Given the description of an element on the screen output the (x, y) to click on. 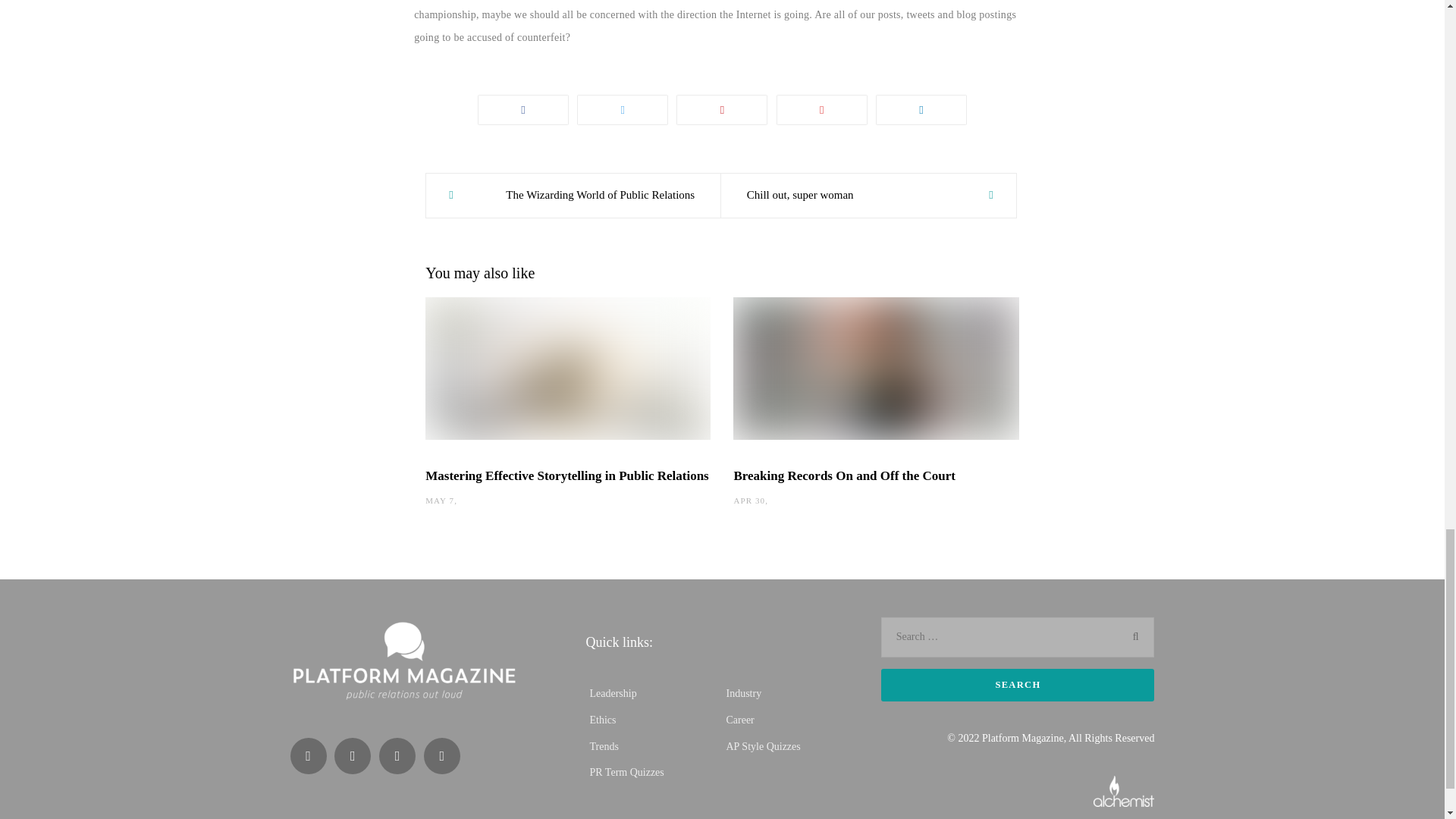
The Wizarding World of Public Relations (572, 195)
Search (1017, 685)
Chill out, super woman (868, 195)
Mastering Effective Storytelling in Public Relations (566, 475)
Tuesday, April 30, 2024, 1:39 pm (749, 500)
Alchemist-Logo-White-1920x974 (1123, 789)
Search (1017, 685)
Tuesday, May 7, 2024, 2:05 pm (439, 500)
